Given the description of an element on the screen output the (x, y) to click on. 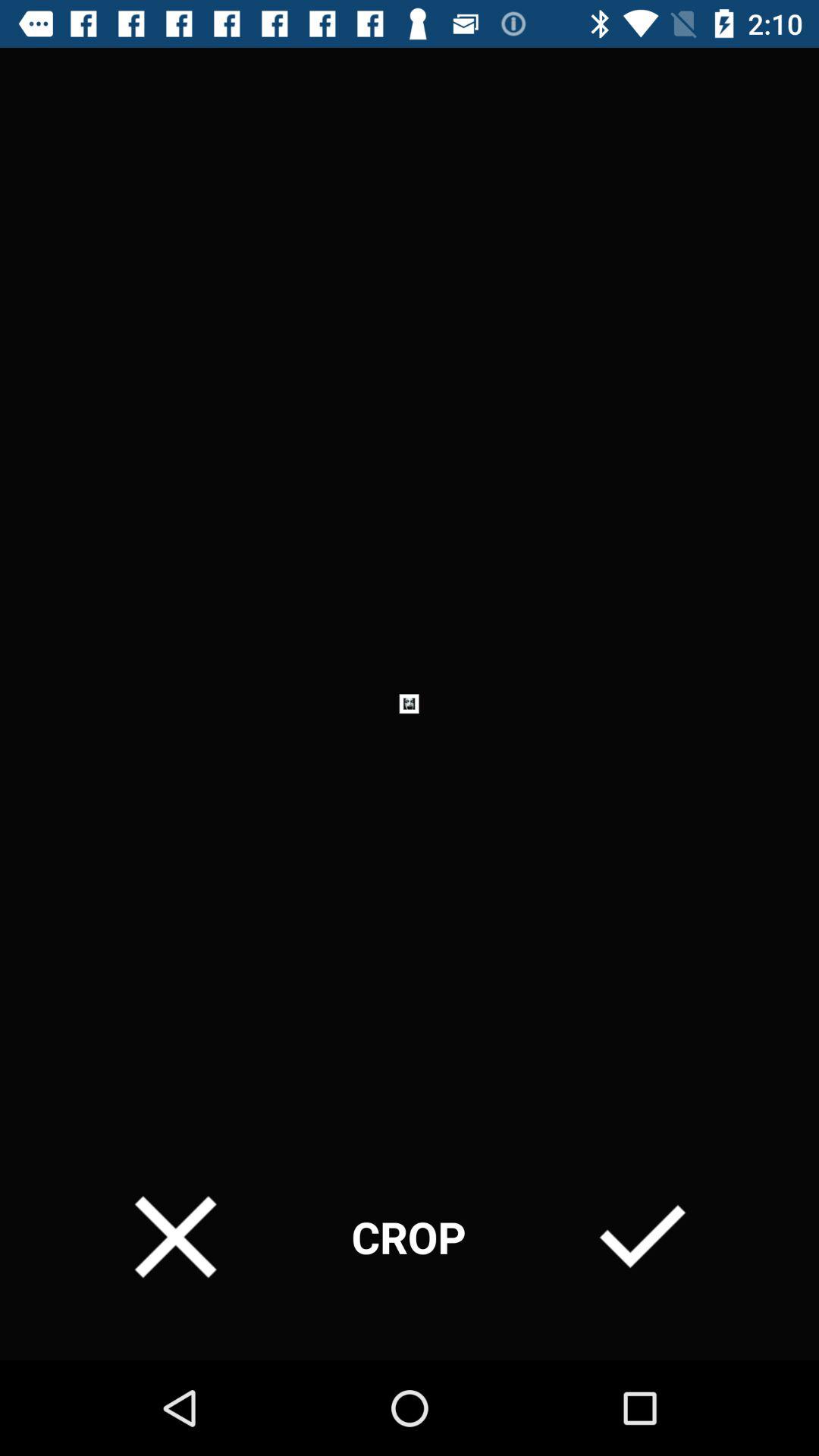
select the icon at the bottom right corner (642, 1236)
